Given the description of an element on the screen output the (x, y) to click on. 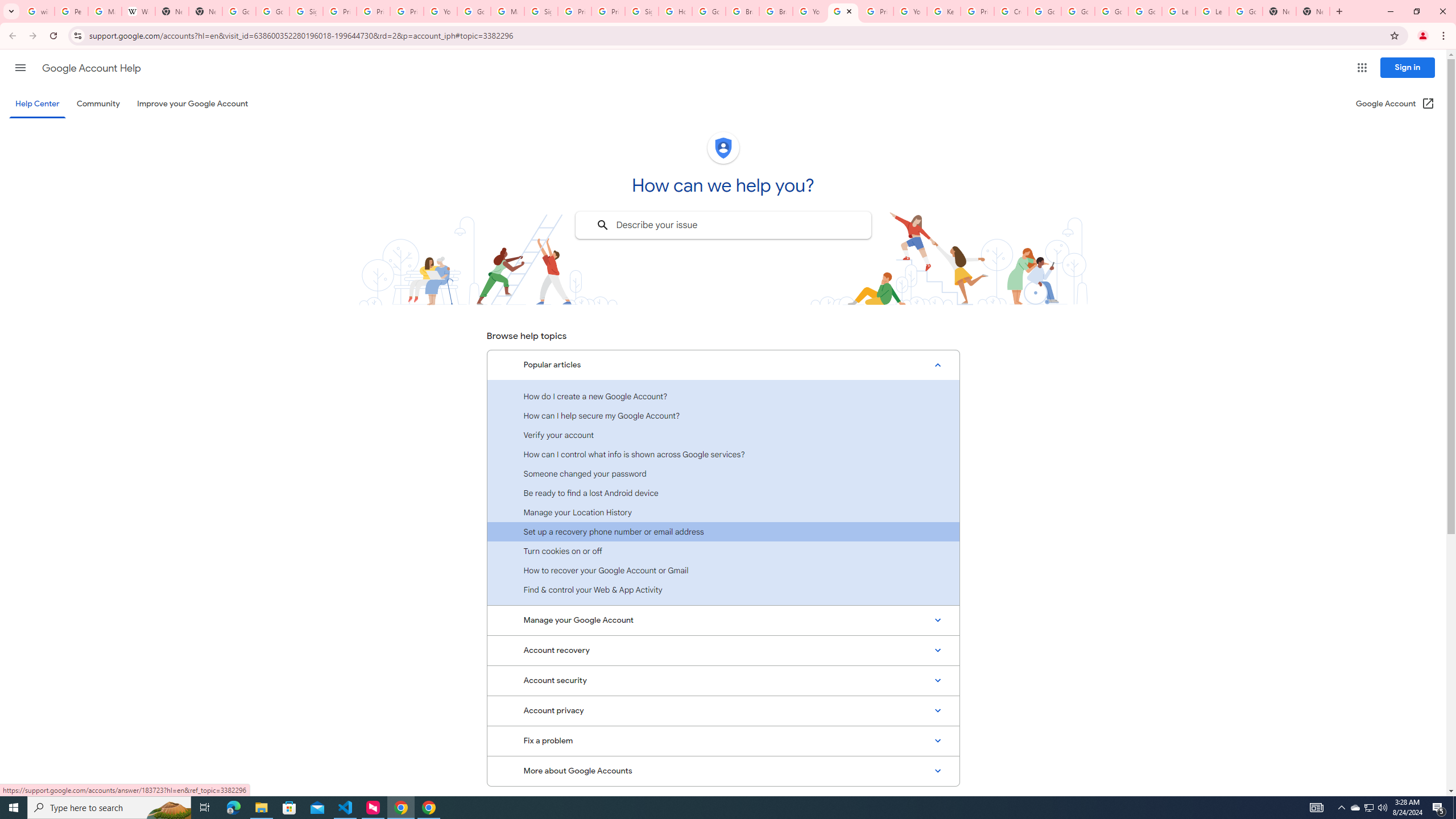
Manage your Location History (722, 512)
Turn cookies on or off (722, 551)
YouTube (909, 11)
Help Center (36, 103)
